Given the description of an element on the screen output the (x, y) to click on. 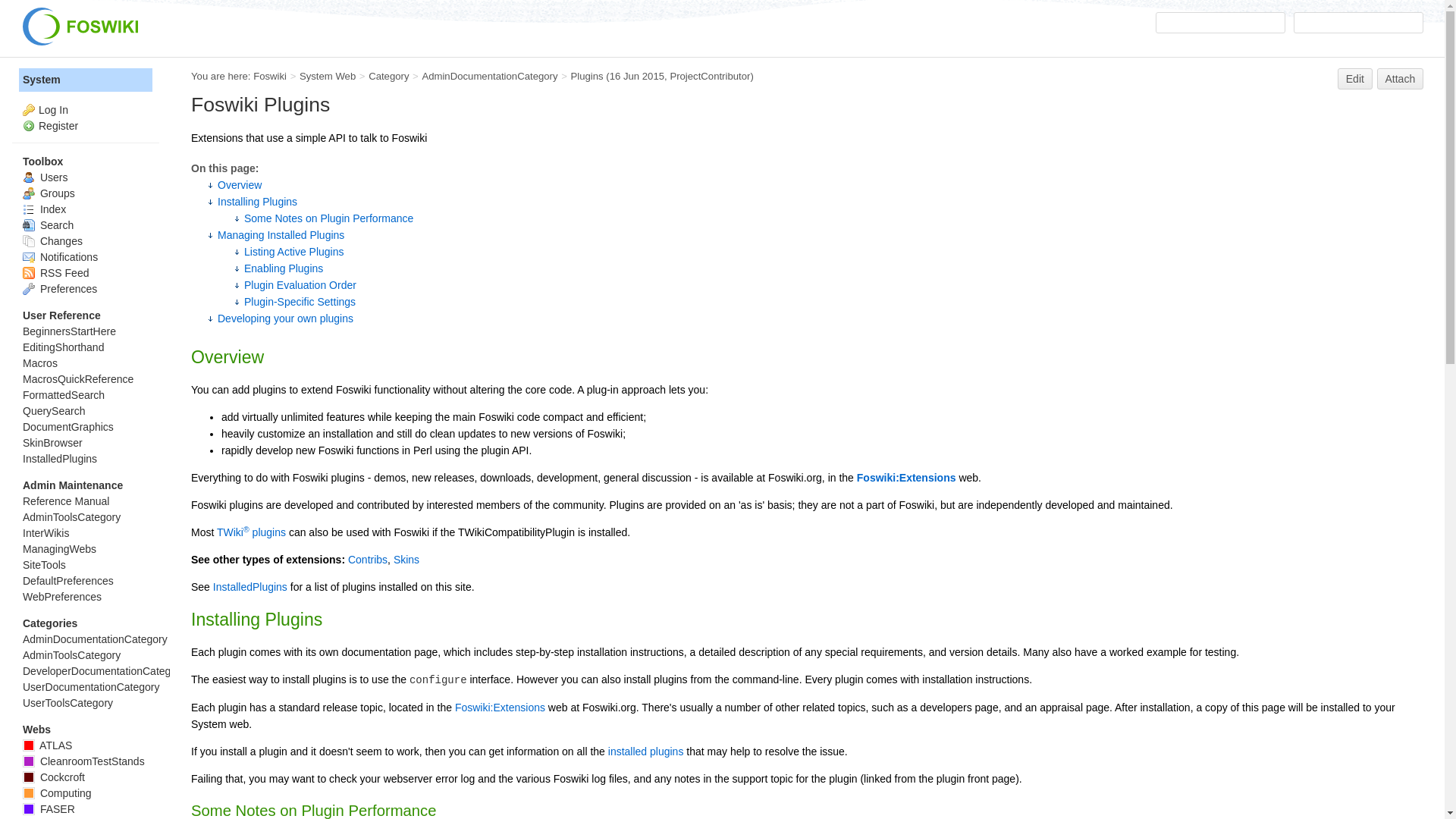
Edit (1355, 78)
Foswiki (269, 75)
Edit this topic text (1355, 78)
Plugin-Specific Settings (299, 301)
Overview (239, 184)
Search (1358, 22)
'Extensions' on foswiki.org (499, 707)
Plugin Evaluation Order (300, 285)
Category (388, 75)
Enabling Plugins (283, 268)
